Given the description of an element on the screen output the (x, y) to click on. 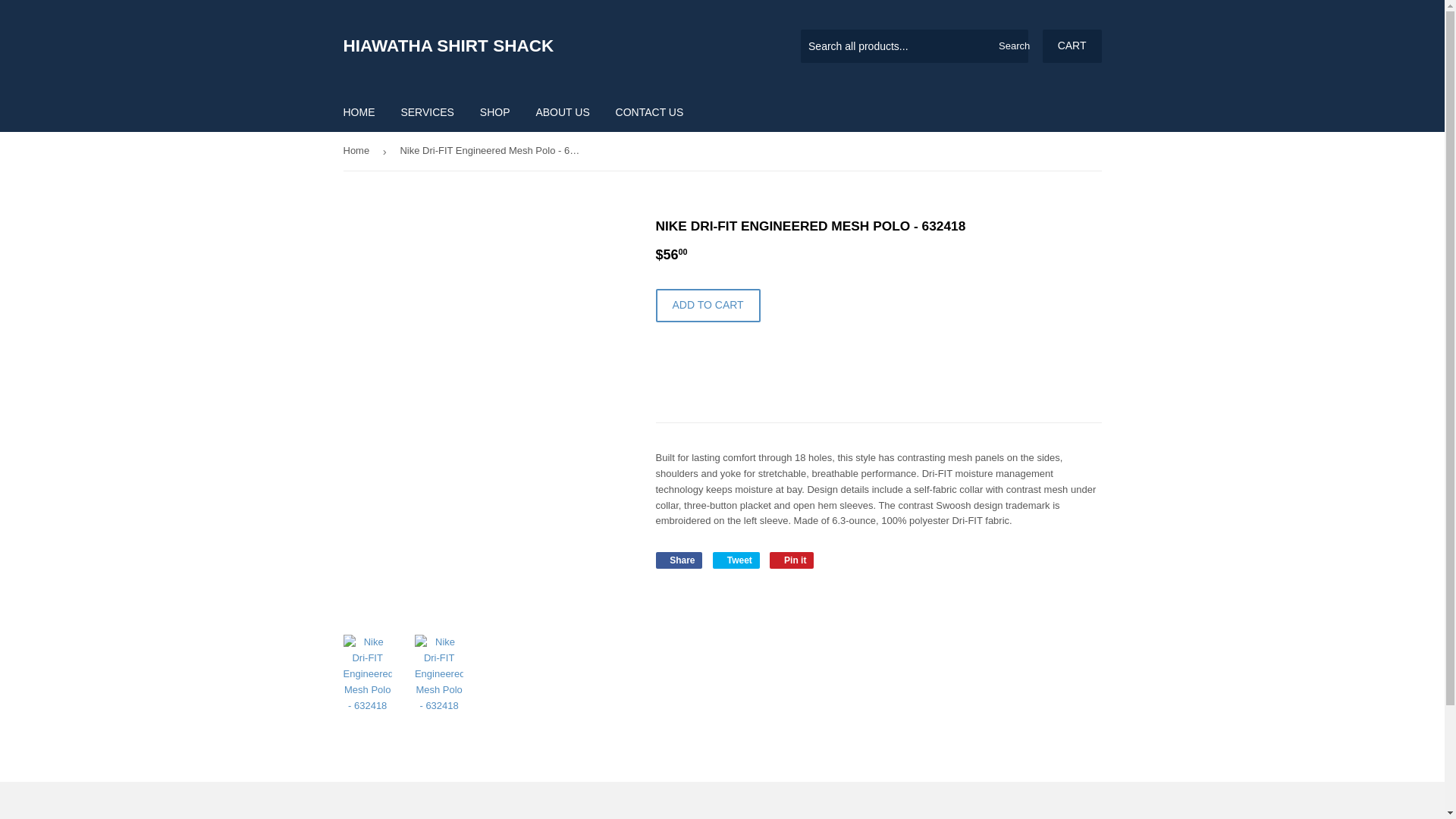
Tweet on Twitter (736, 560)
HIAWATHA SHIRT SHACK (532, 46)
SHOP (494, 111)
HOME (359, 111)
Share on Facebook (678, 560)
Search (1010, 47)
Pin on Pinterest (791, 560)
SERVICES (426, 111)
CART (1072, 46)
